Given the description of an element on the screen output the (x, y) to click on. 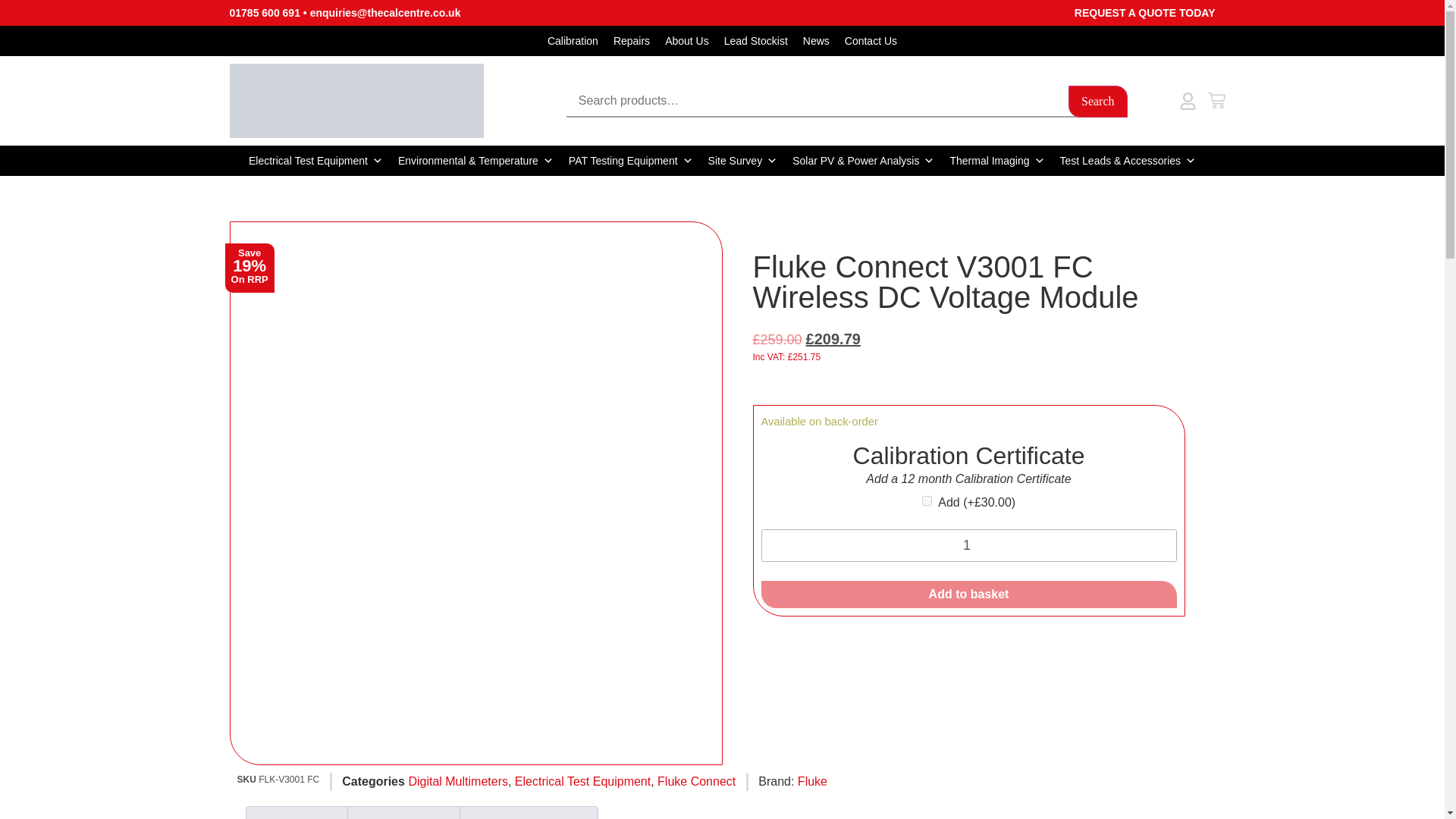
01785 600 691 (263, 12)
1 (968, 545)
add (926, 501)
REQUEST A QUOTE TODAY (1144, 12)
